Given the description of an element on the screen output the (x, y) to click on. 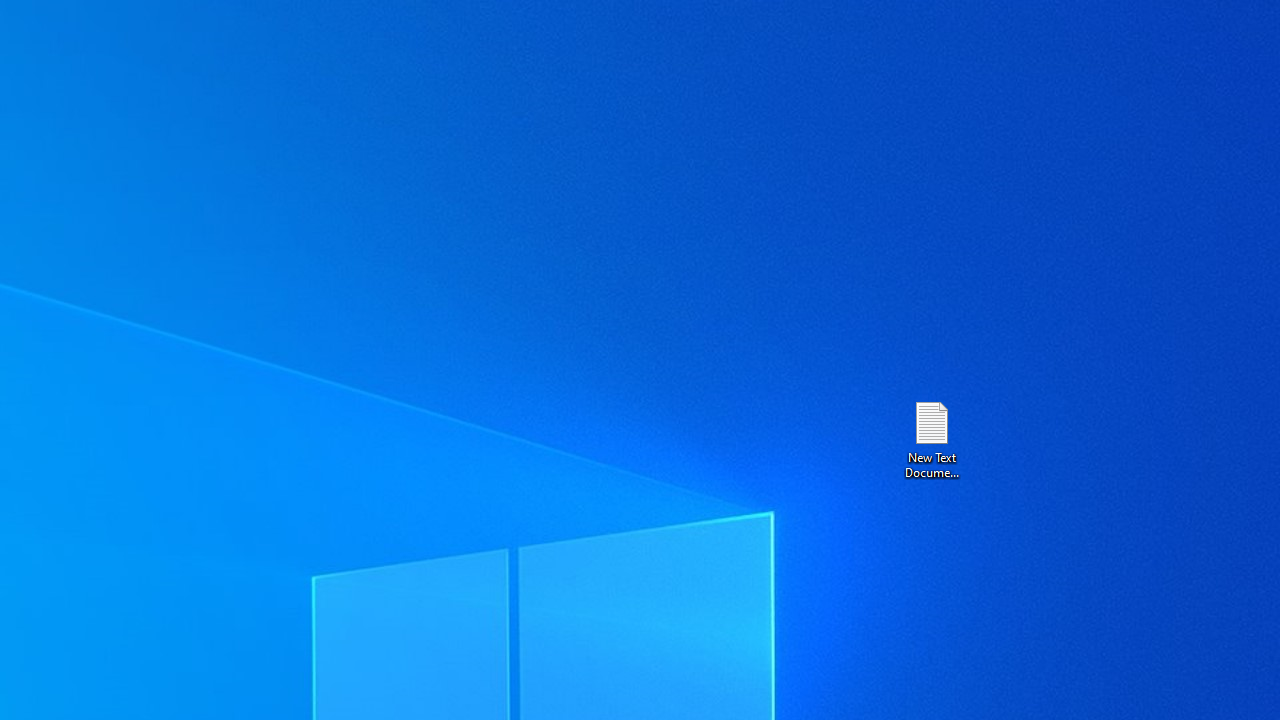
New Text Document (2) (931, 438)
